Given the description of an element on the screen output the (x, y) to click on. 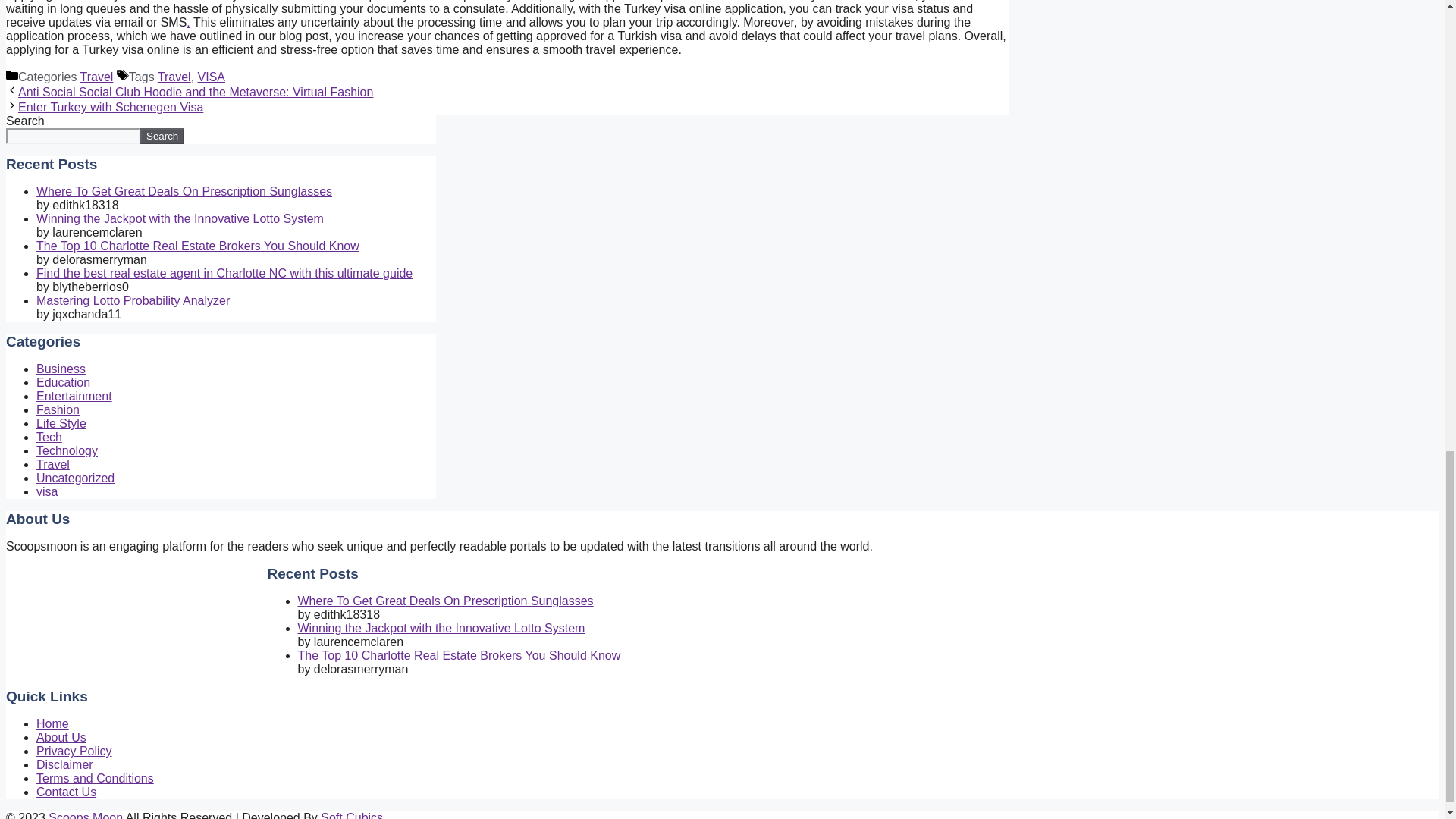
Search (161, 135)
The Top 10 Charlotte Real Estate Brokers You Should Know (197, 245)
Entertainment (74, 395)
Where To Get Great Deals On Prescription Sunglasses (444, 600)
Technology (66, 450)
Education (63, 382)
Travel (52, 463)
The Top 10 Charlotte Real Estate Brokers You Should Know (458, 655)
Fashion (58, 409)
Business (60, 368)
